Given the description of an element on the screen output the (x, y) to click on. 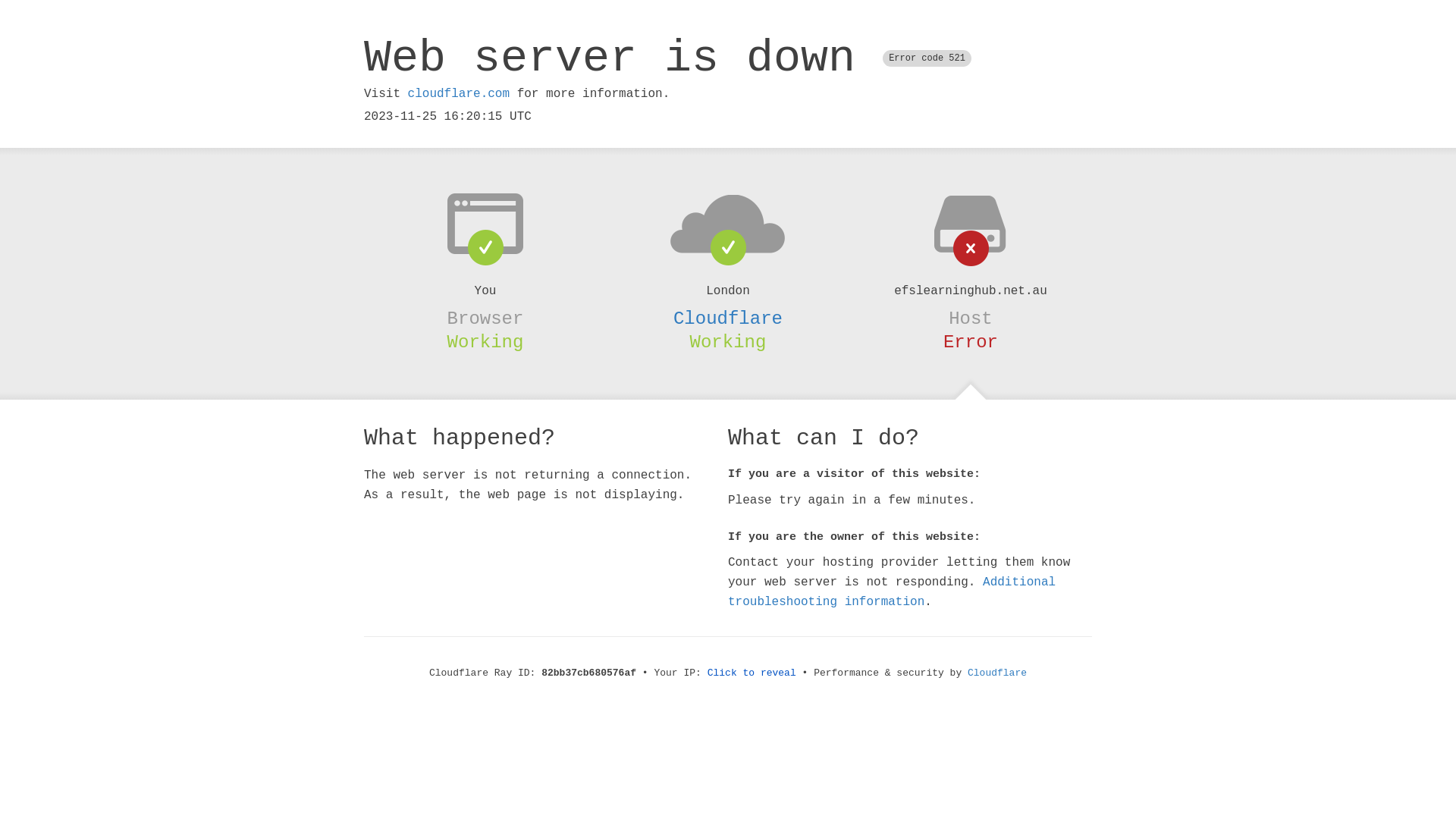
Additional troubleshooting information Element type: text (891, 591)
cloudflare.com Element type: text (458, 93)
Cloudflare Element type: text (996, 672)
Cloudflare Element type: text (727, 318)
Click to reveal Element type: text (751, 672)
